Given the description of an element on the screen output the (x, y) to click on. 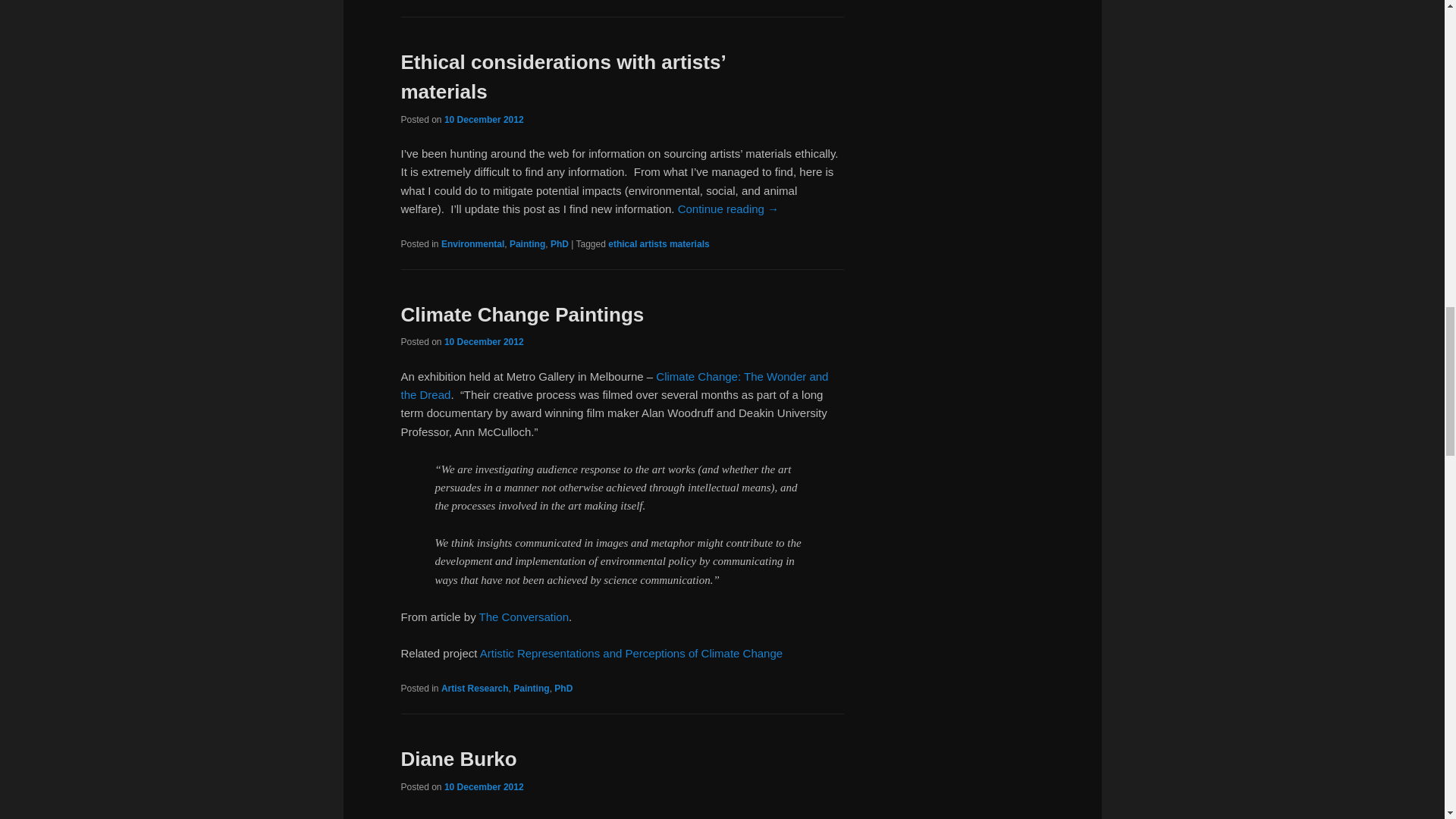
The Conversation (524, 616)
12:54 pm (484, 341)
Metro Gallery, Melbourne (614, 385)
10 December 2012 (484, 119)
Deakin Research Institute (631, 653)
7:25 pm (484, 119)
12:06 pm (484, 787)
